Given the description of an element on the screen output the (x, y) to click on. 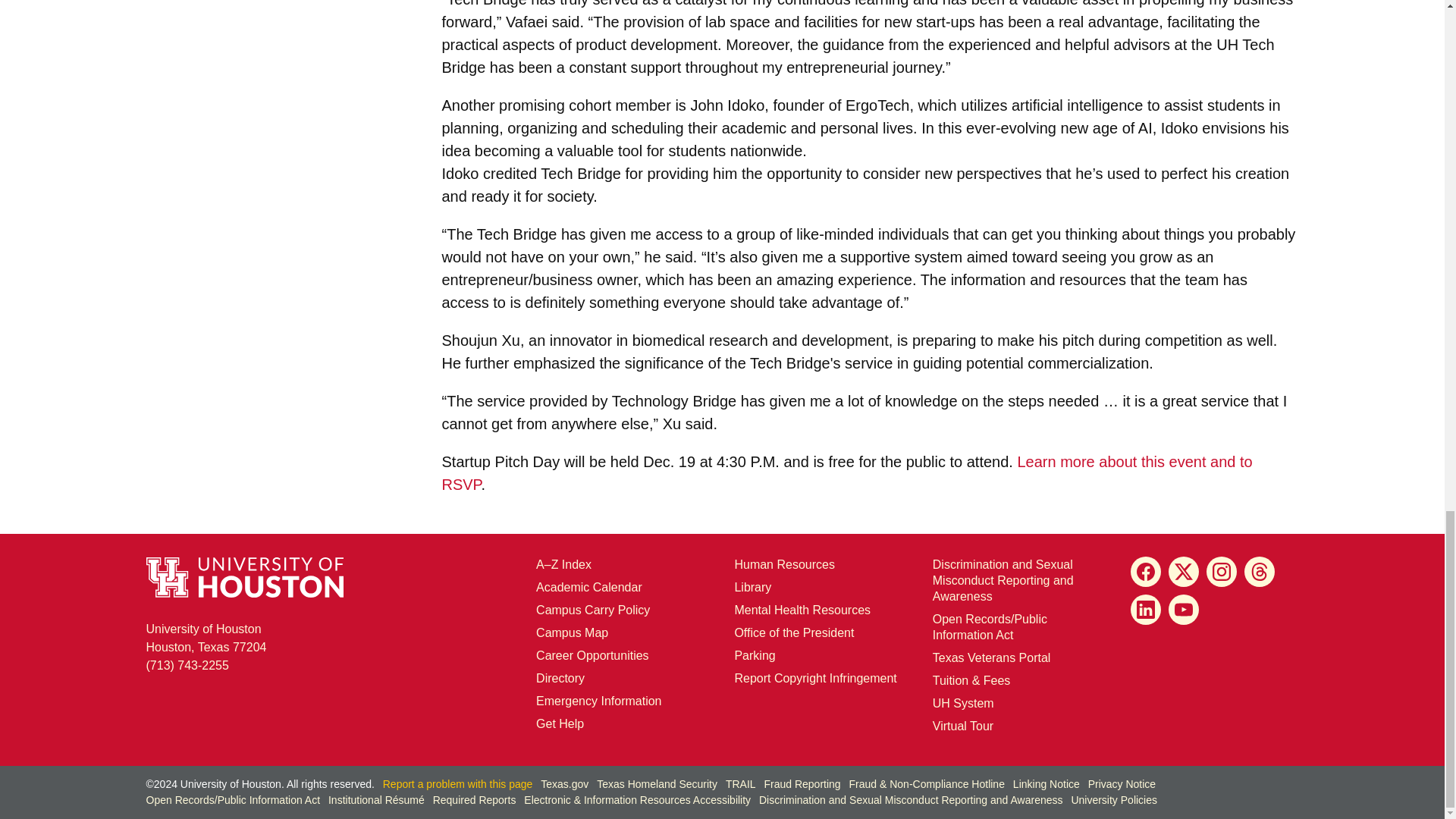
Facebook (1145, 571)
YouTube (1183, 609)
LinkedIn (1145, 609)
Threads (1259, 571)
Instagram (1221, 571)
X (1183, 571)
